Given the description of an element on the screen output the (x, y) to click on. 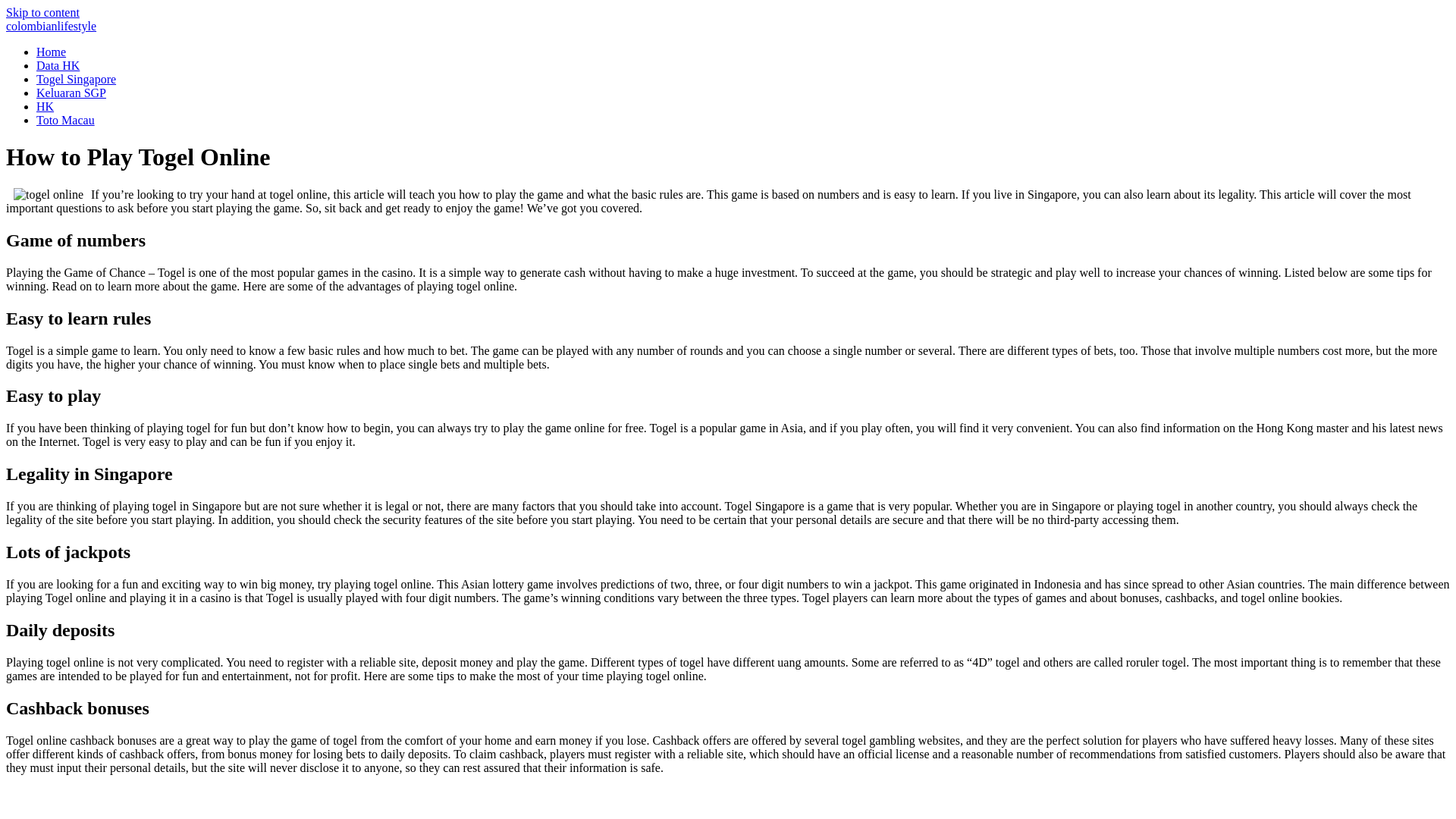
Home (50, 51)
Togel Singapore (76, 78)
Home (50, 25)
HK (44, 106)
Data HK (58, 65)
Toto Macau (65, 119)
Keluaran SGP (71, 92)
Skip to content (42, 11)
colombianlifestyle (50, 25)
